Given the description of an element on the screen output the (x, y) to click on. 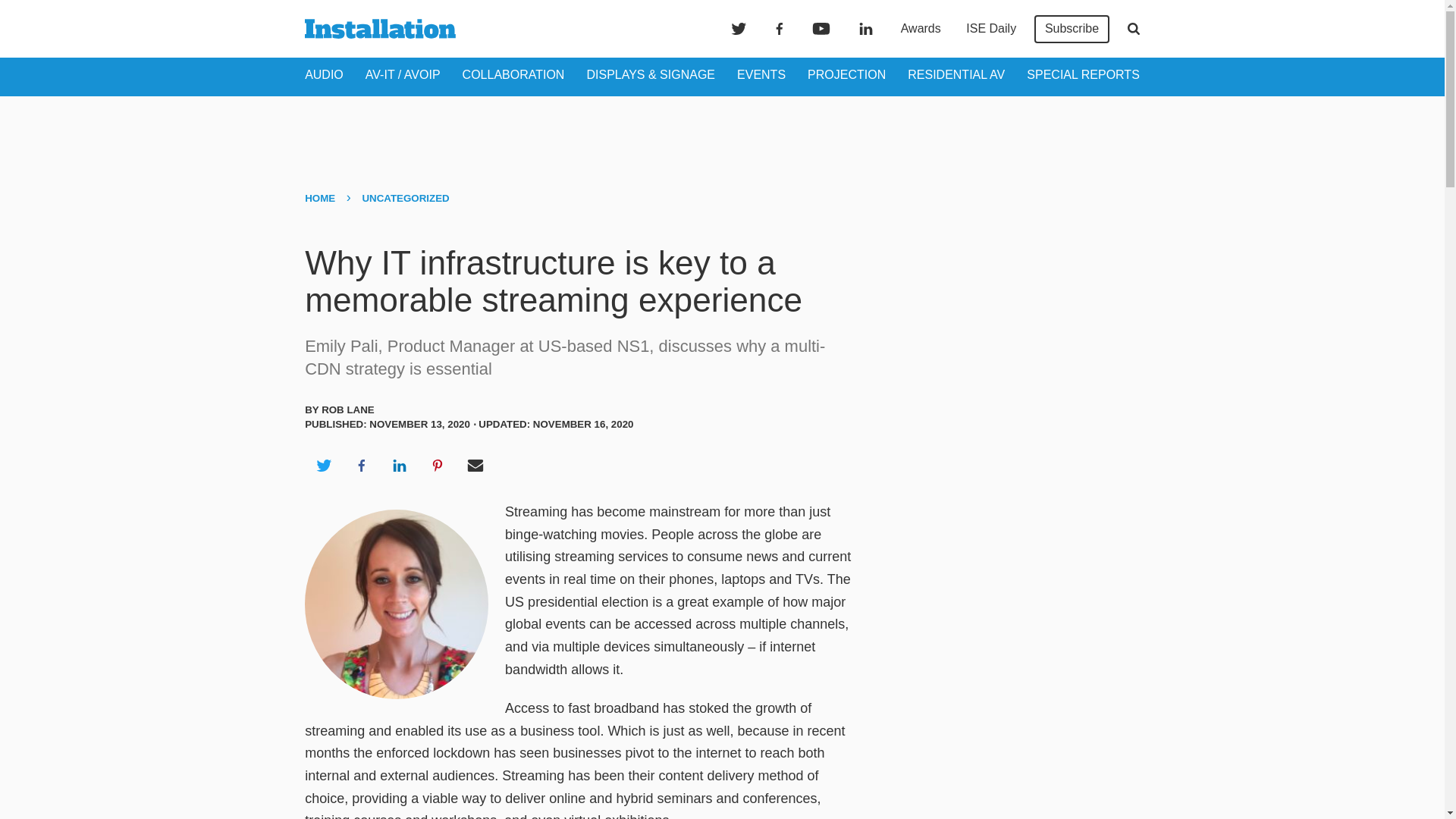
Share on Twitter (323, 465)
Subscribe (1071, 29)
AUDIO (323, 74)
Awards (921, 29)
Share on Facebook (361, 465)
COLLABORATION (513, 74)
ISE Daily (990, 29)
Share on Pinterest (438, 465)
Share via Email (476, 465)
Rob Lane's Author Profile (347, 409)
